Given the description of an element on the screen output the (x, y) to click on. 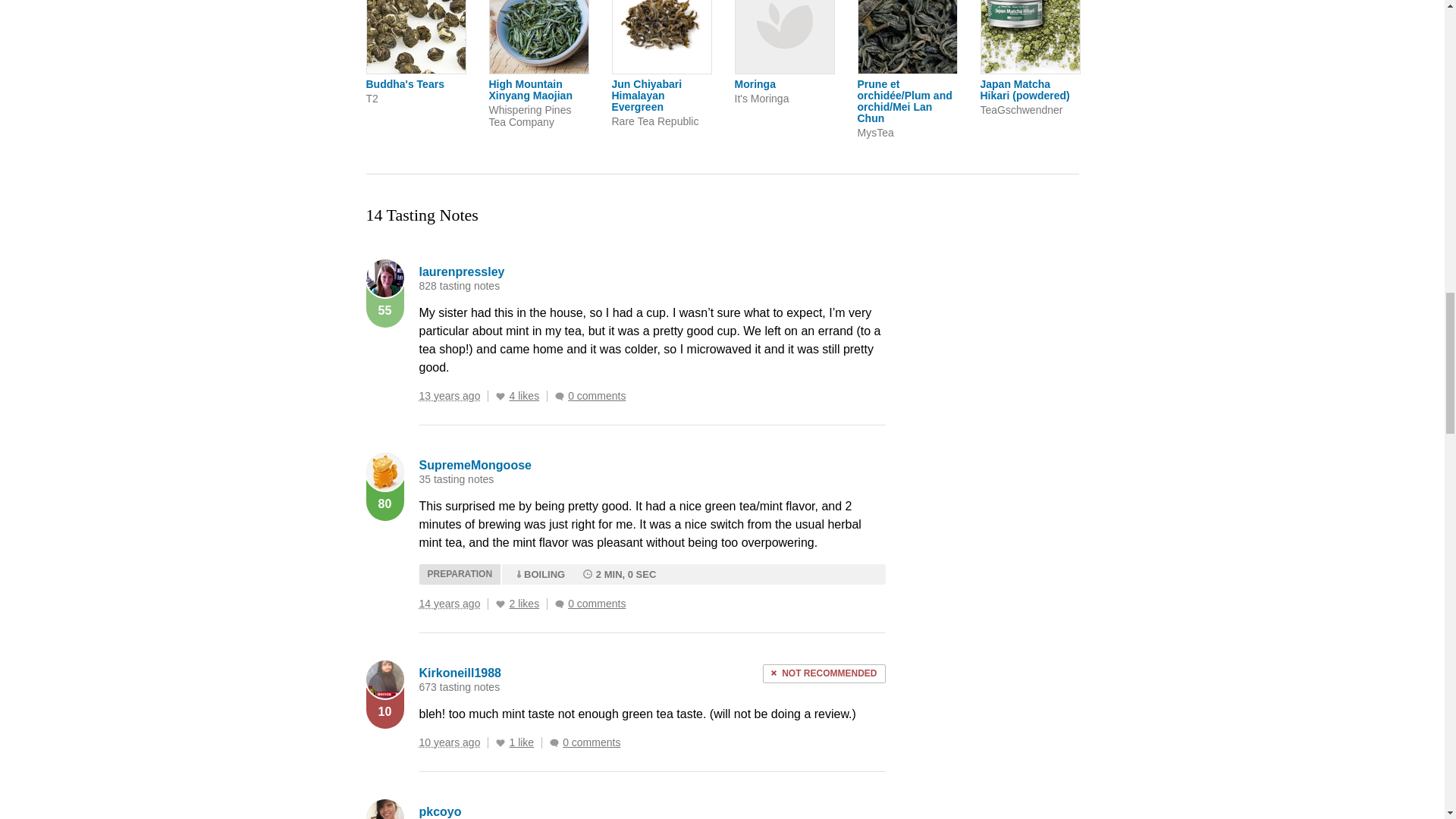
2011-02-20T02:57:22Z (449, 395)
Like This (500, 742)
2014-02-13T23:15:47Z (449, 742)
Like This (500, 604)
2011-01-18T01:50:48Z (449, 603)
Like This (500, 396)
